Given the description of an element on the screen output the (x, y) to click on. 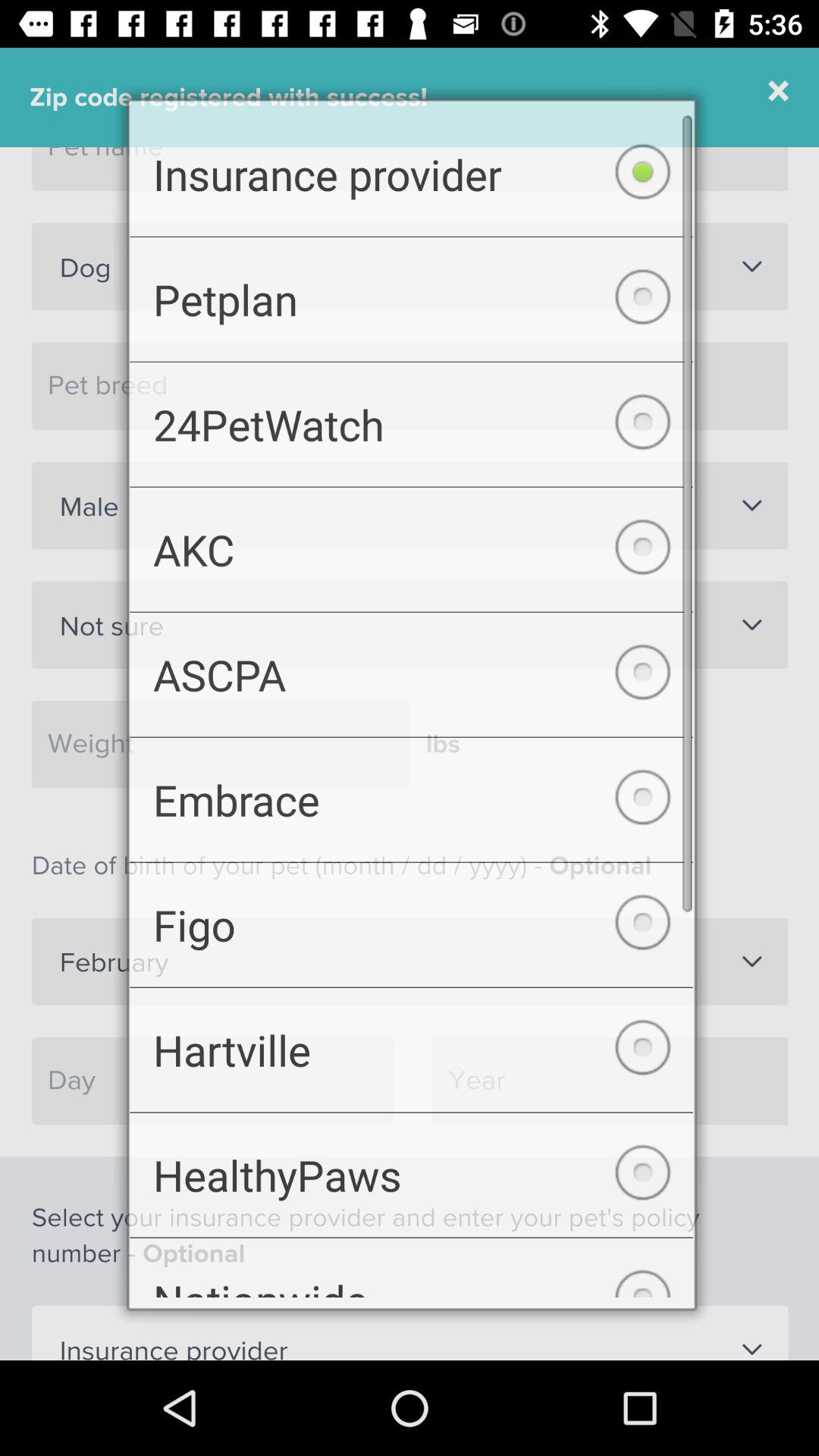
jump to the petplan checkbox (411, 288)
